Given the description of an element on the screen output the (x, y) to click on. 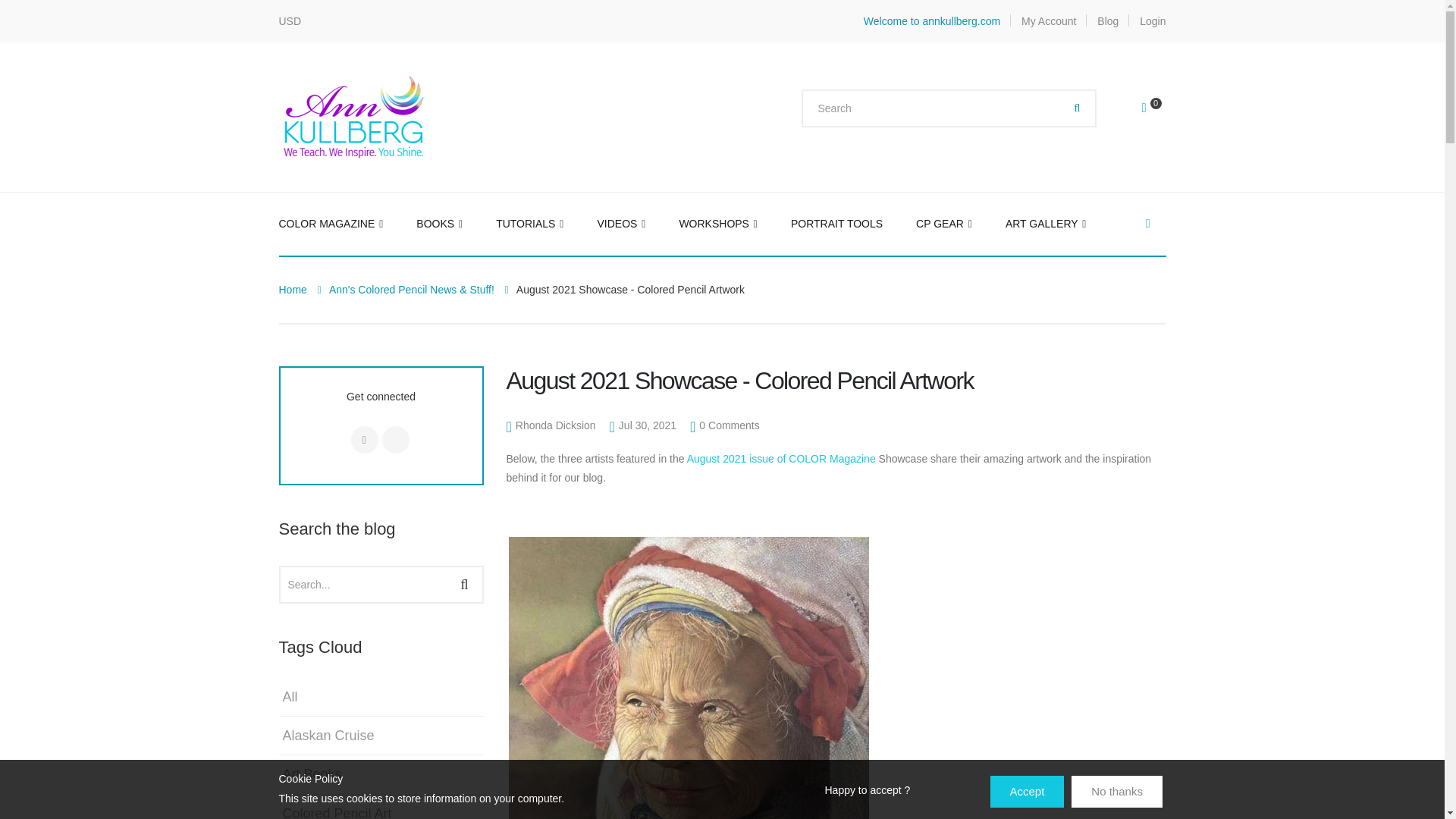
Narrow search to articles also having tag colored pencil art (335, 810)
Pinterest (395, 439)
cart (1153, 108)
Login (1153, 20)
My Account (1048, 20)
annkullberg.com (354, 115)
Narrow search to articles also having tag art books (310, 774)
Facebook (364, 439)
Facebook (1147, 223)
Narrow search to articles also having tag Alaskan Cruise (326, 735)
